Given the description of an element on the screen output the (x, y) to click on. 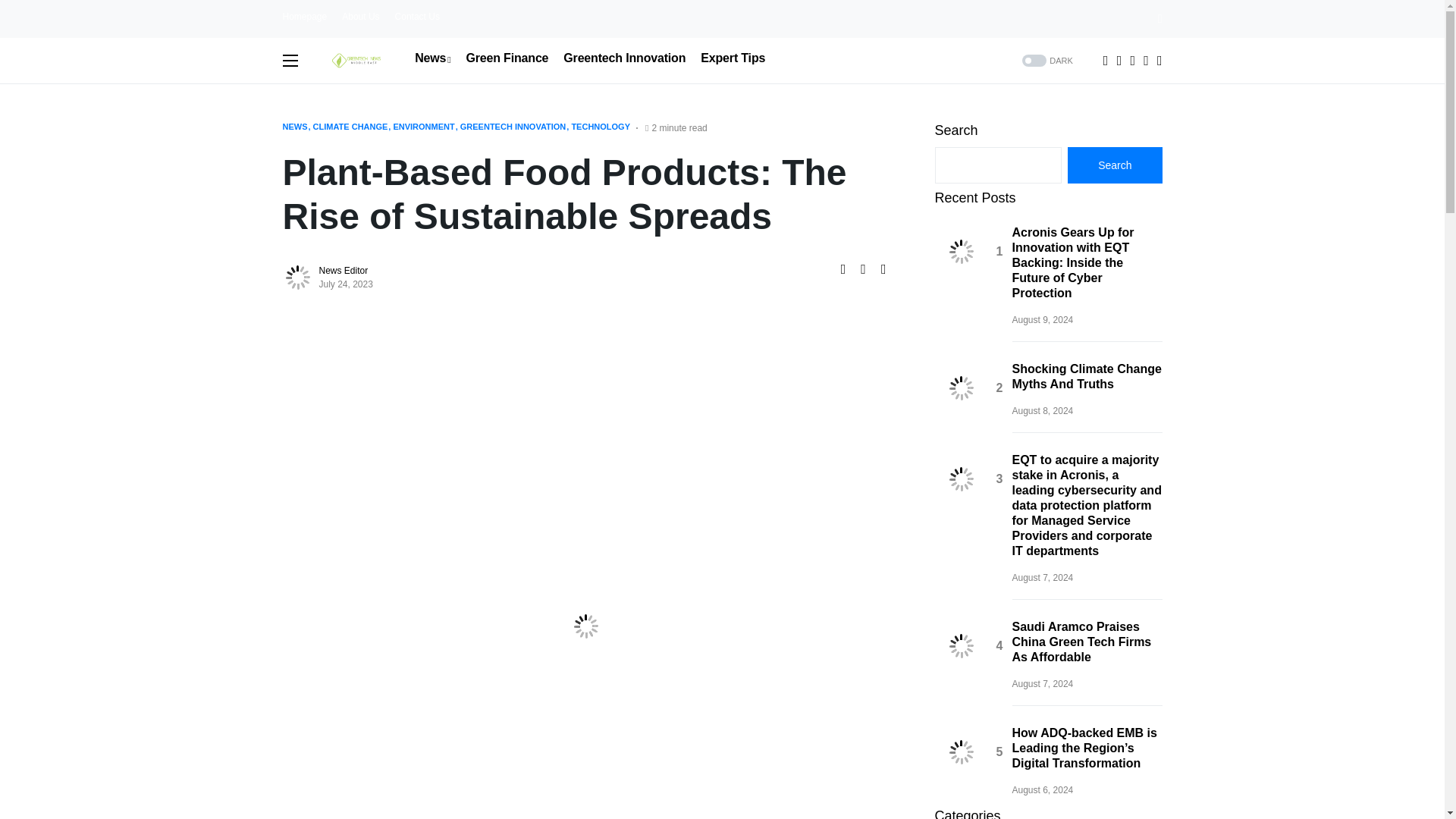
Homepage (304, 16)
About Us (360, 16)
Green Finance (506, 58)
Contact Us (416, 16)
Expert Tips (732, 58)
Greentech Innovation (624, 58)
